Given the description of an element on the screen output the (x, y) to click on. 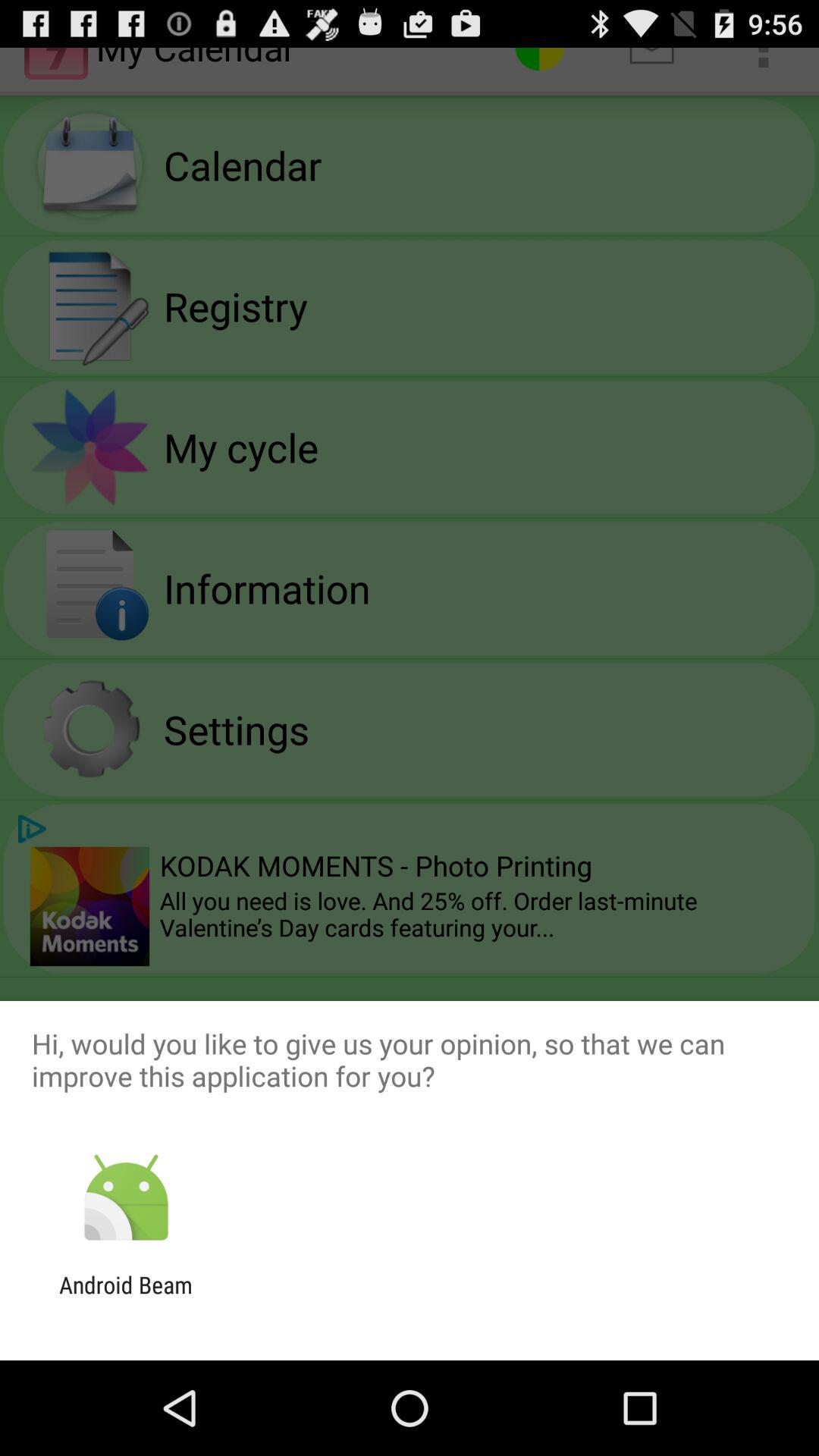
tap item below hi would you (126, 1198)
